Given the description of an element on the screen output the (x, y) to click on. 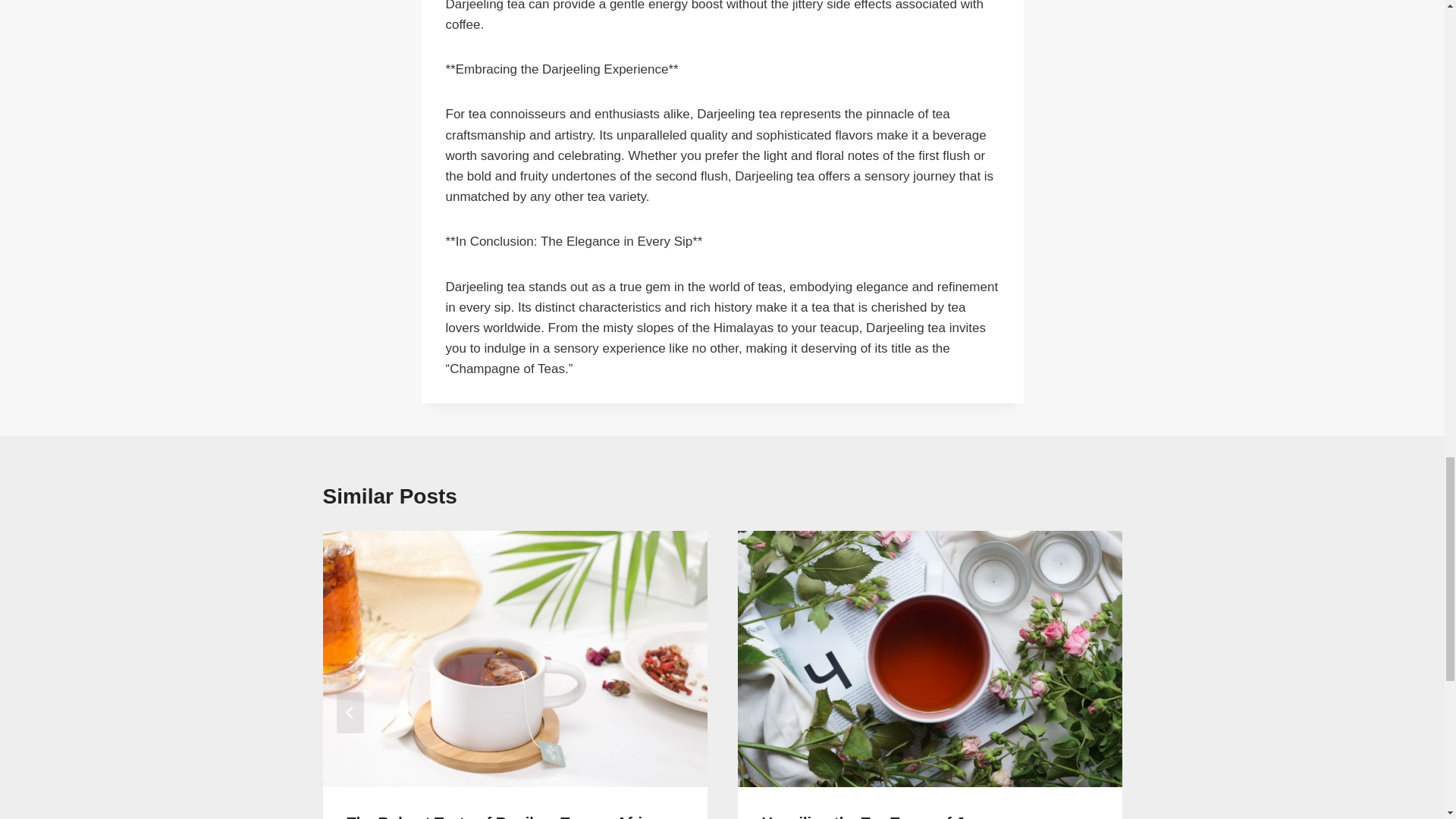
Unveiling the Tea Types of Japan: a Comprehensive Guide (888, 816)
The Robust Taste of Rooibos Tea: an African Delight (507, 816)
